Given the description of an element on the screen output the (x, y) to click on. 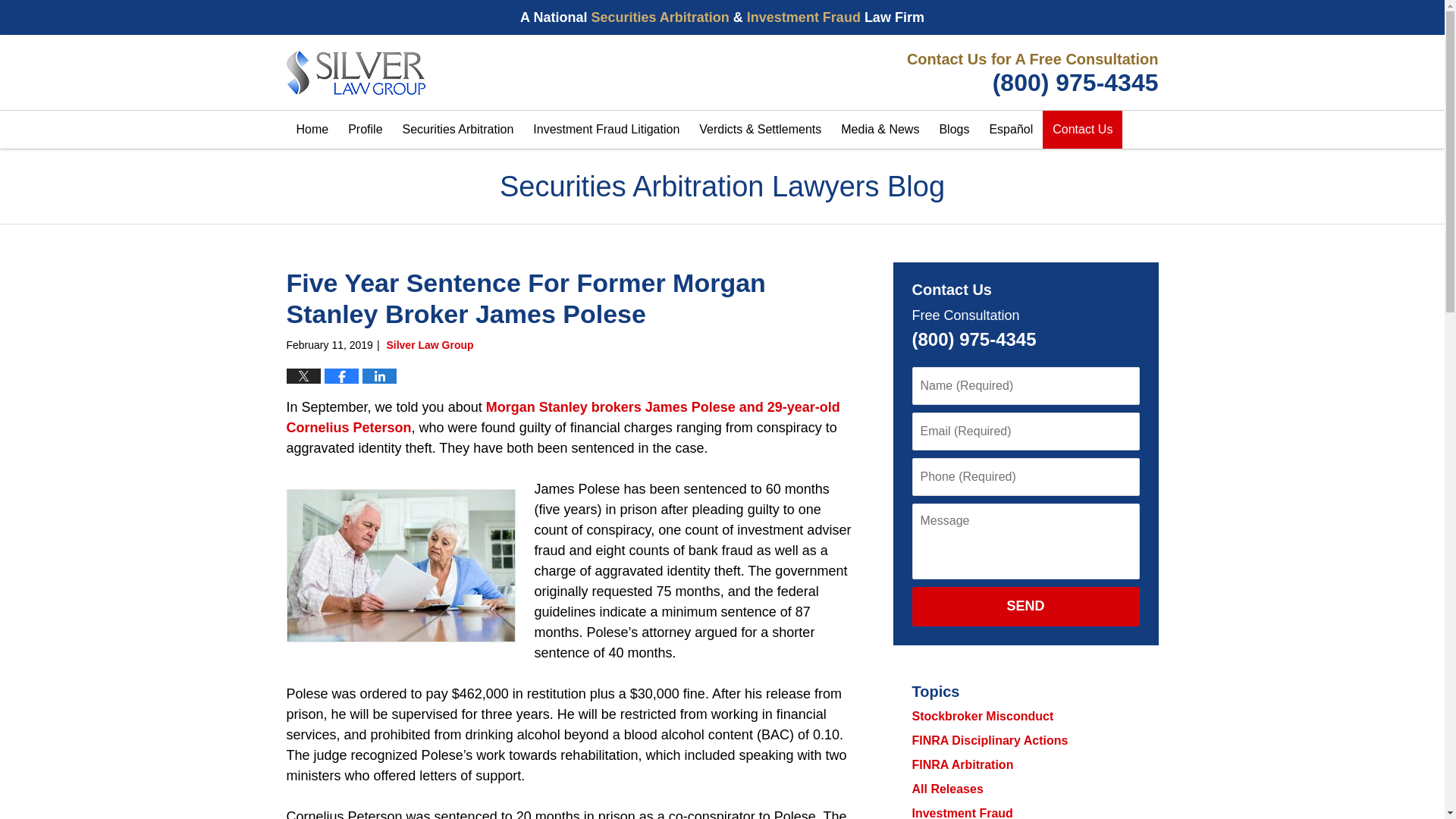
Investment Fraud Litigation (605, 129)
Contact Us (1082, 129)
Silver Law Group (1028, 72)
Home (312, 129)
Profile (364, 129)
Securities Arbitration Lawyers Blog (355, 72)
Blogs (953, 129)
Securities Arbitration (458, 129)
